Given the description of an element on the screen output the (x, y) to click on. 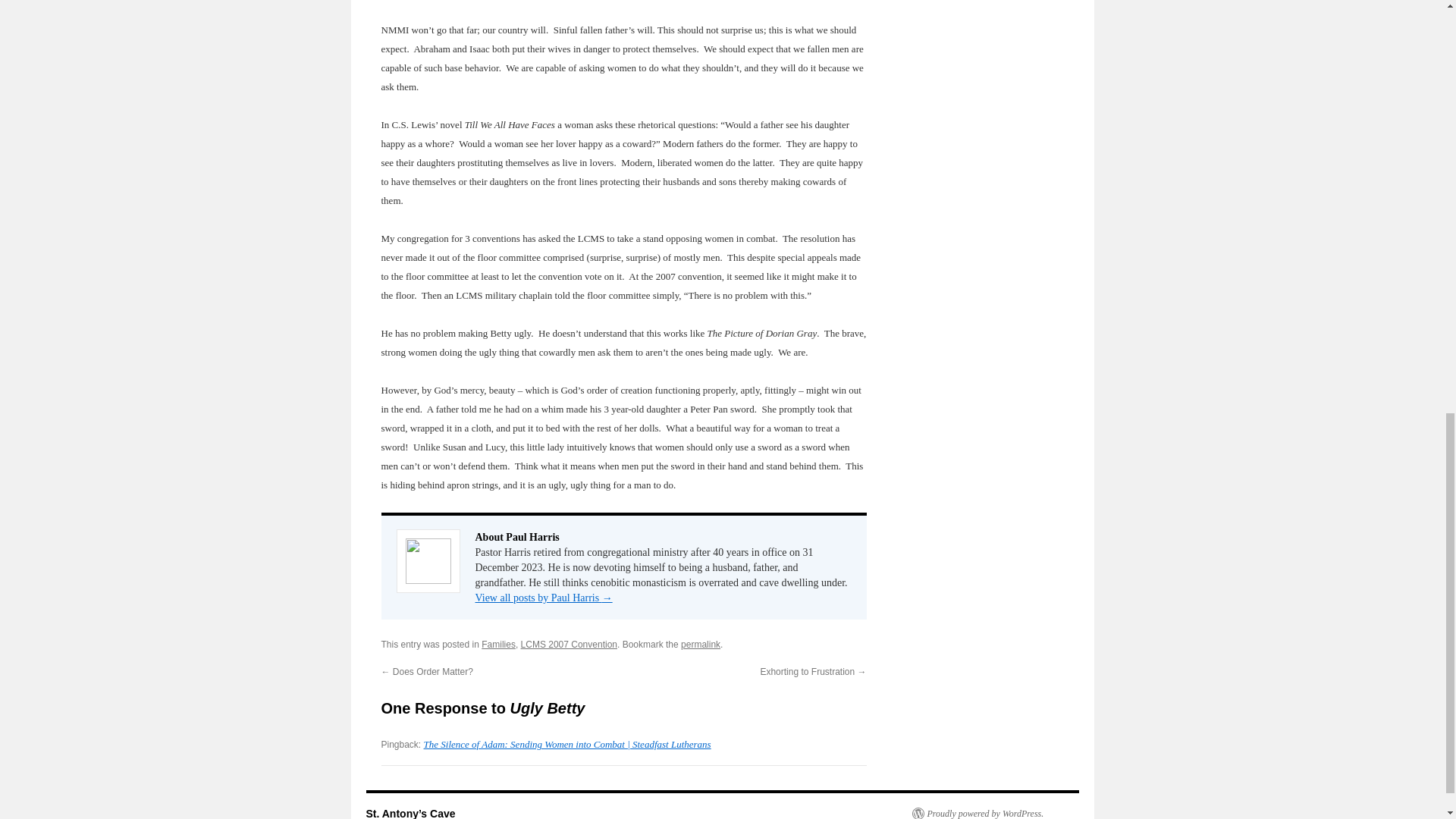
permalink (700, 644)
Permalink to Ugly Betty (700, 644)
Families (498, 644)
LCMS 2007 Convention (569, 644)
